Given the description of an element on the screen output the (x, y) to click on. 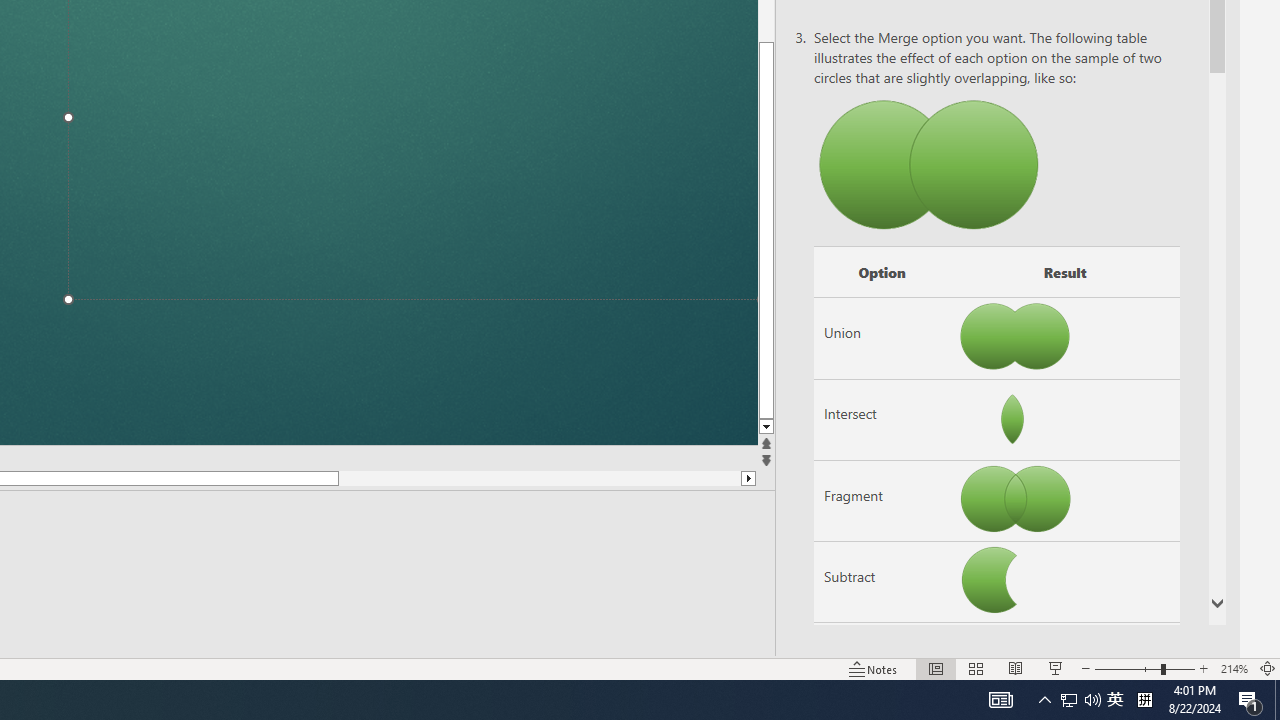
Fragment (881, 501)
Subtract (881, 582)
Action Center, 1 new notification (1250, 699)
